Given the description of an element on the screen output the (x, y) to click on. 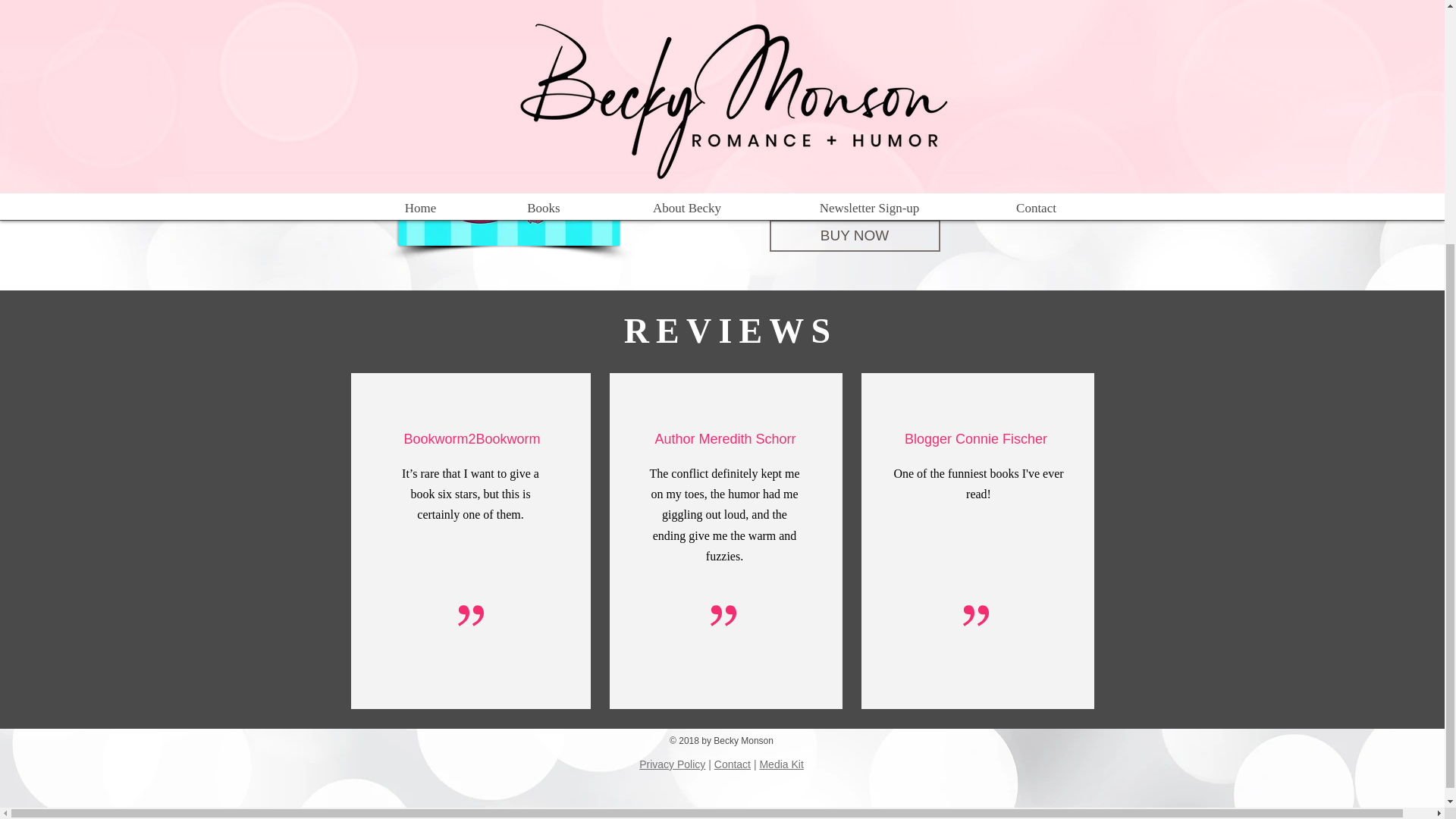
Contact (732, 764)
BUY NOW (853, 235)
Privacy Policy (671, 764)
Media Kit (780, 764)
